Given the description of an element on the screen output the (x, y) to click on. 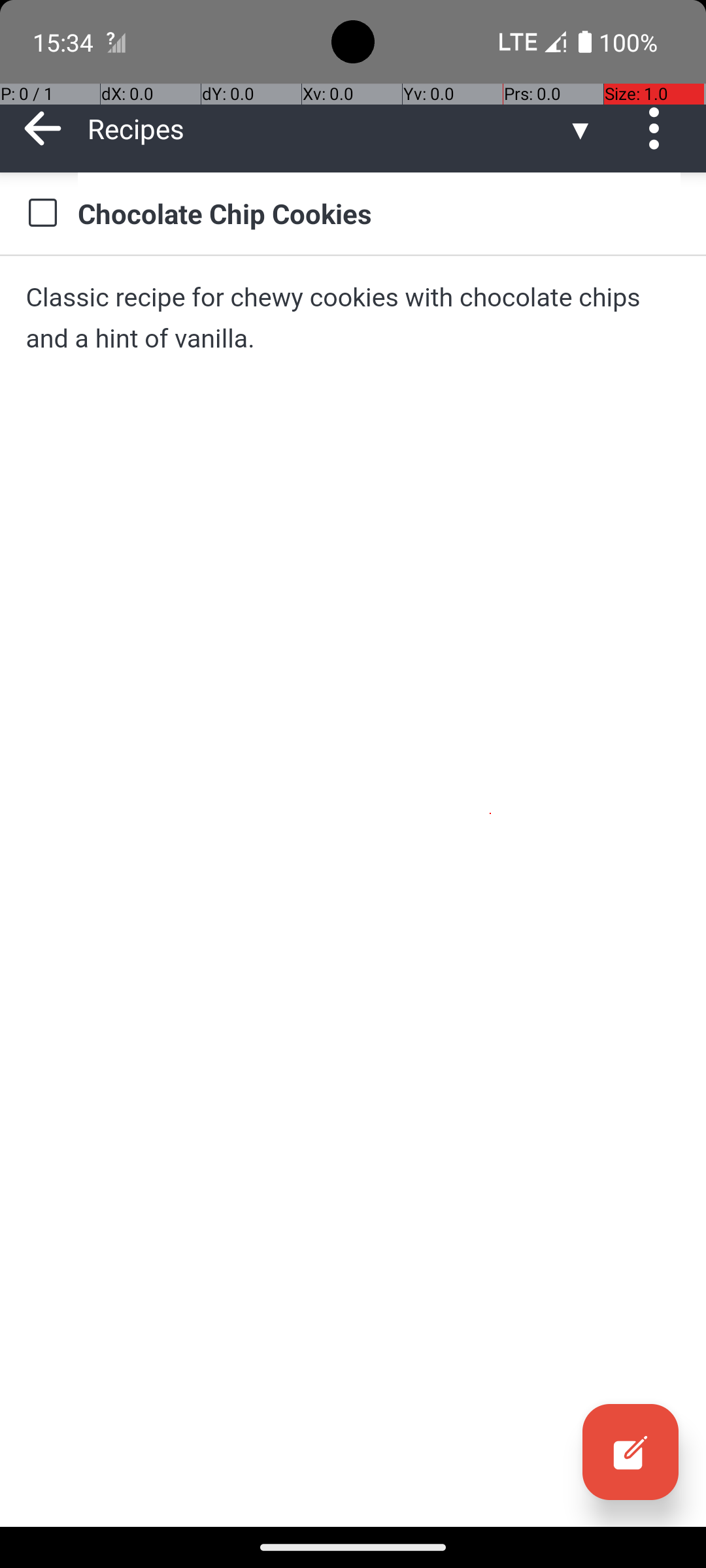
Chocolate Chip Cookies Element type: android.widget.EditText (378, 213)
Classic recipe for chewy cookies with chocolate chips and a hint of vanilla. Element type: android.widget.TextView (352, 317)
